Given the description of an element on the screen output the (x, y) to click on. 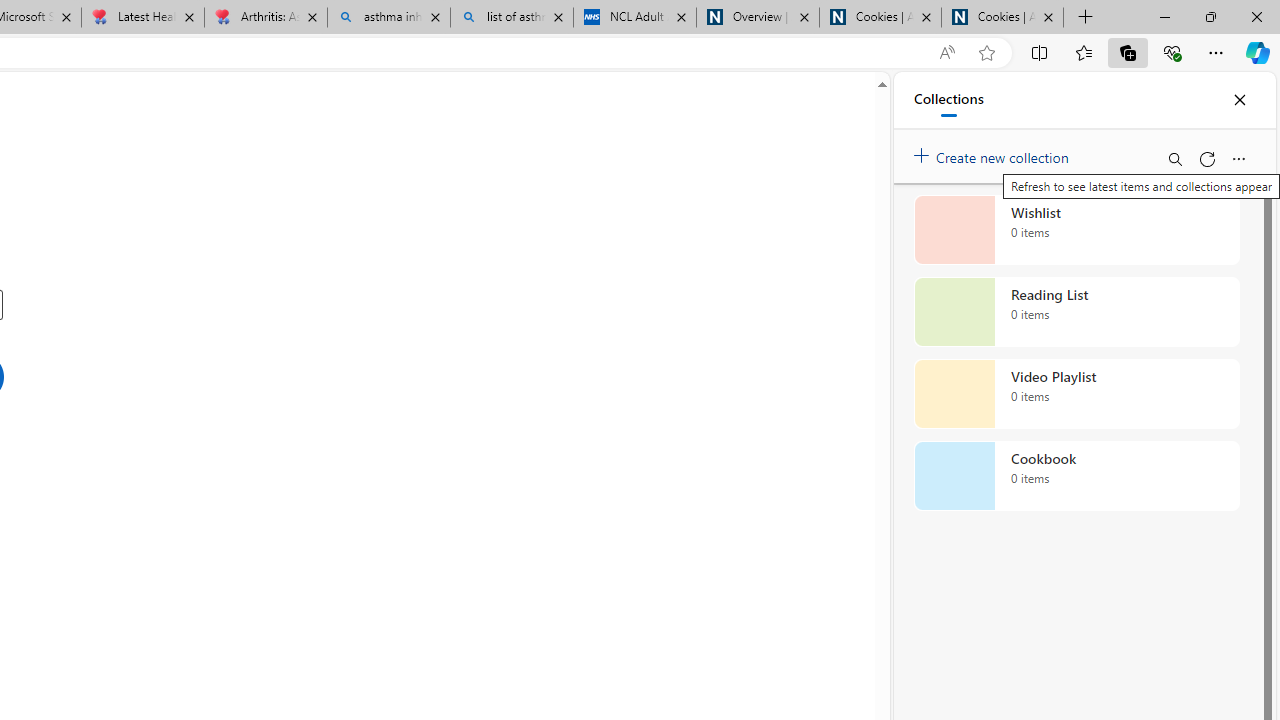
Video Playlist collection, 0 items (1076, 394)
Wishlist collection, 0 items (1076, 229)
Arthritis: Ask Health Professionals (265, 17)
More options menu (1238, 158)
NCL Adult Asthma Inhaler Choice Guideline (634, 17)
Cookbook collection, 0 items (1076, 475)
